Given the description of an element on the screen output the (x, y) to click on. 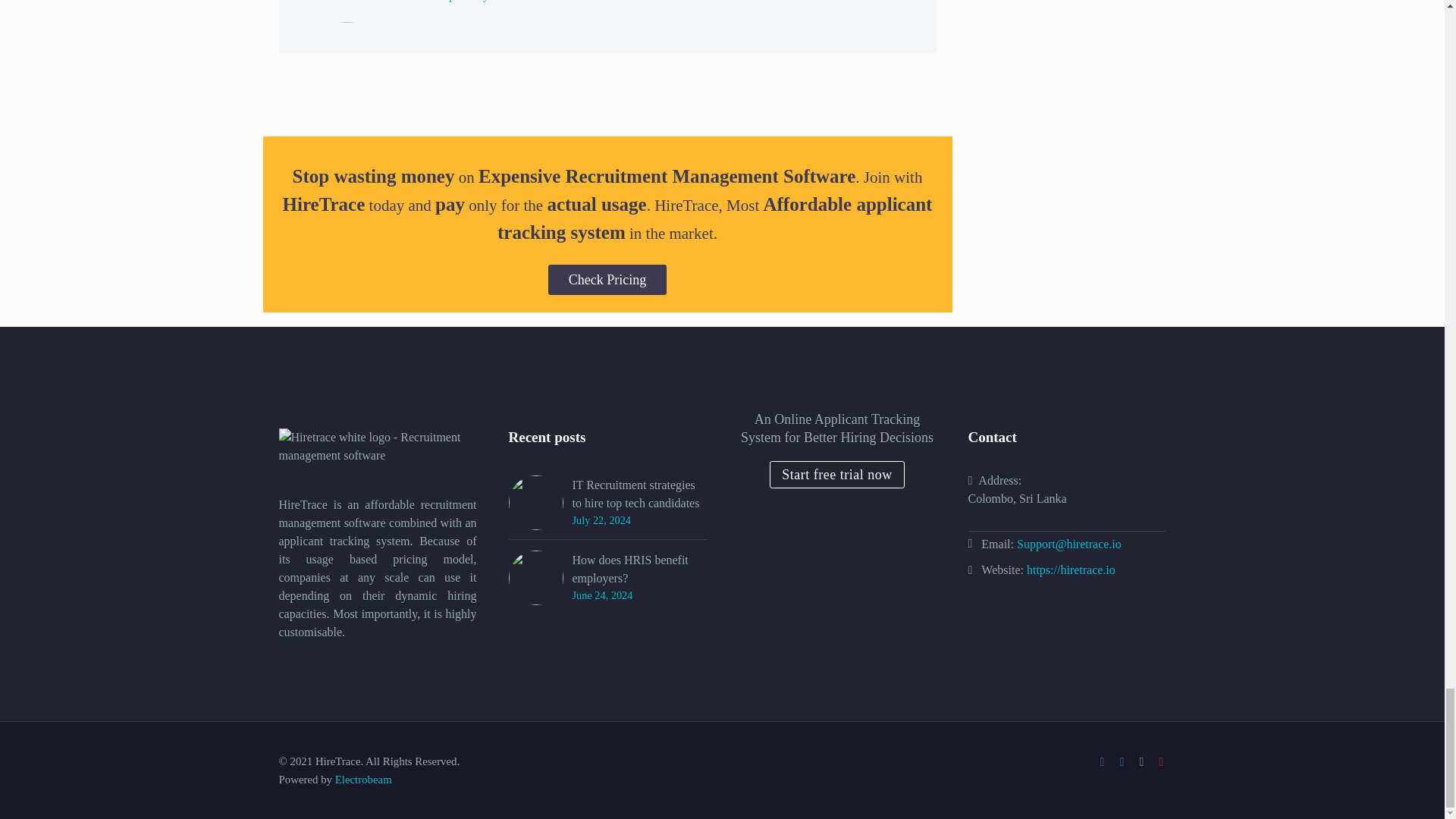
Check Pricing (607, 279)
IT Recruitment strategies to hire top tech candidates (639, 493)
Start free trial now (837, 474)
Check Pricing (607, 279)
